Given the description of an element on the screen output the (x, y) to click on. 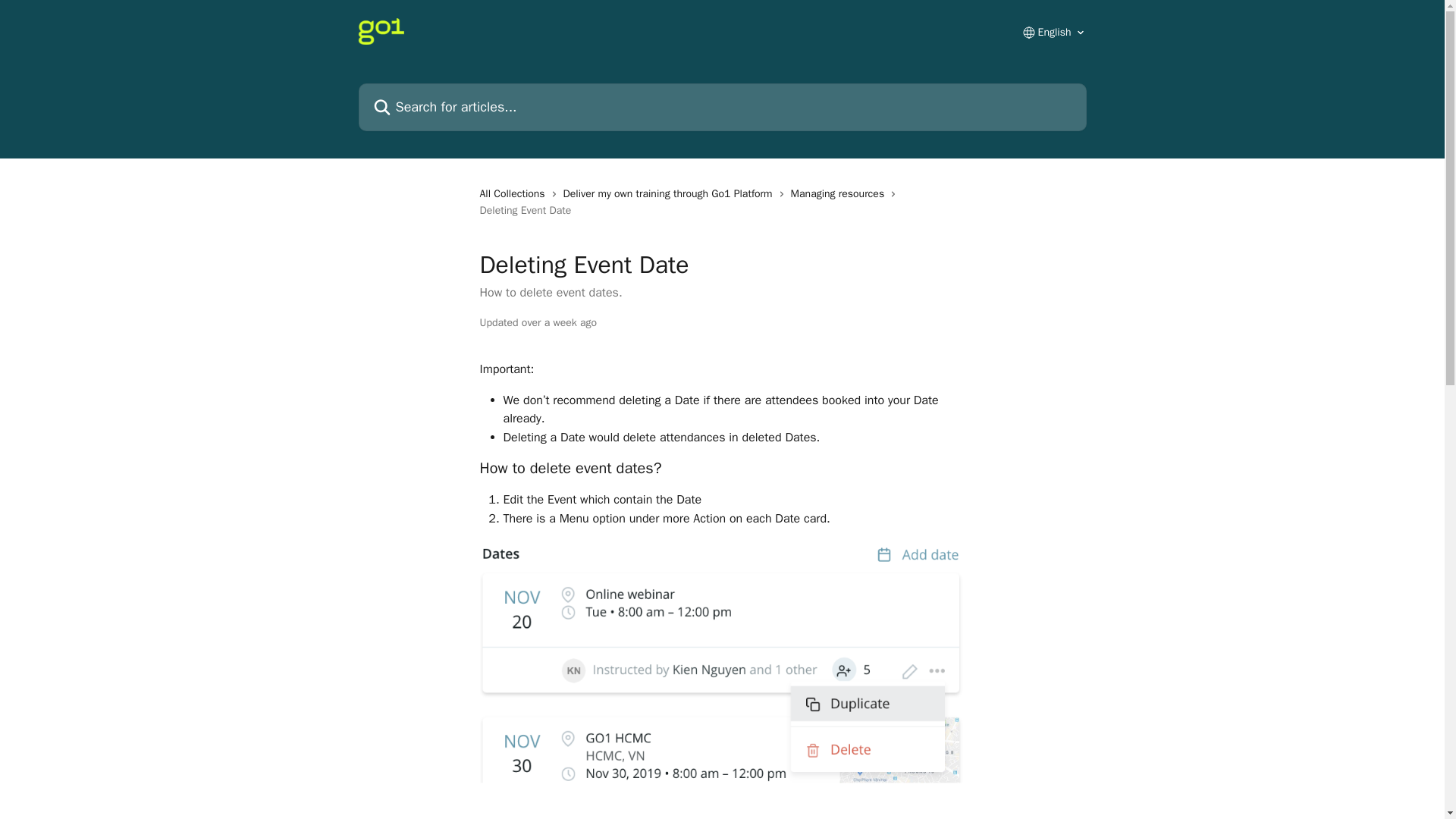
Managing resources (840, 193)
All Collections (514, 193)
Deliver my own training through Go1 Platform (670, 193)
